Given the description of an element on the screen output the (x, y) to click on. 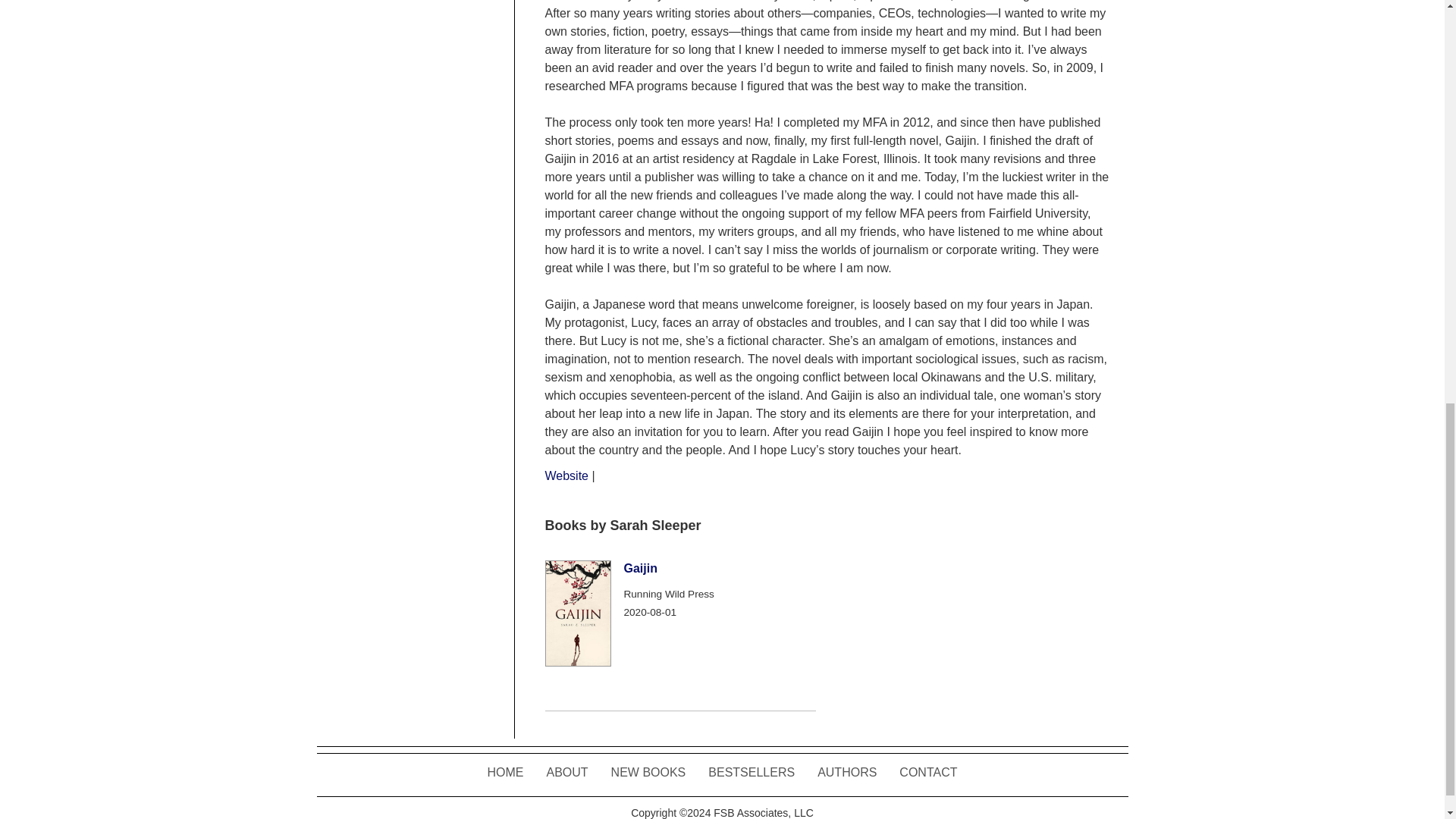
Gaijin (639, 567)
Website (566, 475)
